Given the description of an element on the screen output the (x, y) to click on. 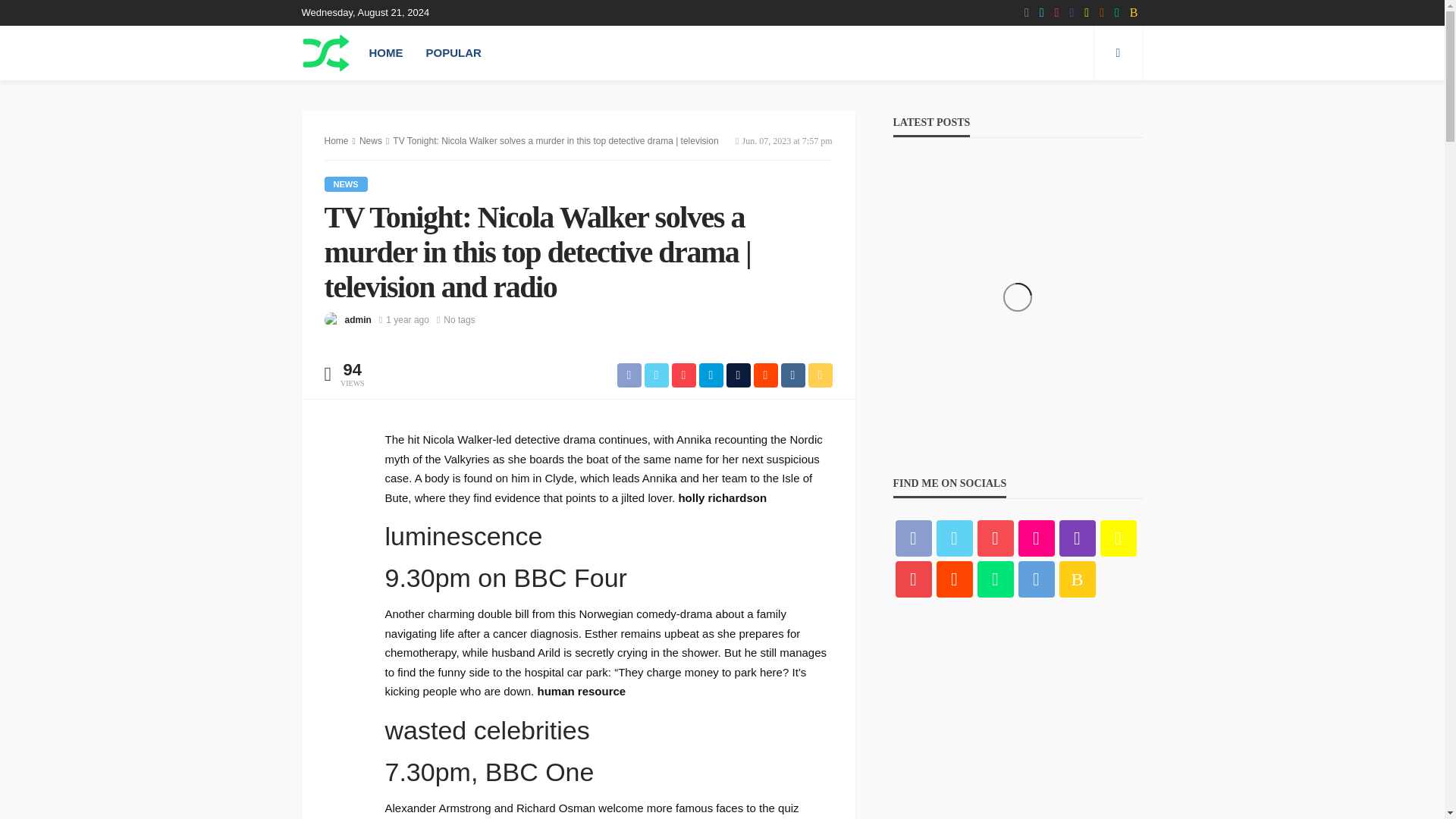
NEWS (346, 183)
Home (336, 140)
News (346, 183)
InternetShuffle - See The Shuffle On The Internet (325, 52)
News (370, 140)
HOME (386, 52)
POPULAR (452, 52)
admin (357, 319)
